Given the description of an element on the screen output the (x, y) to click on. 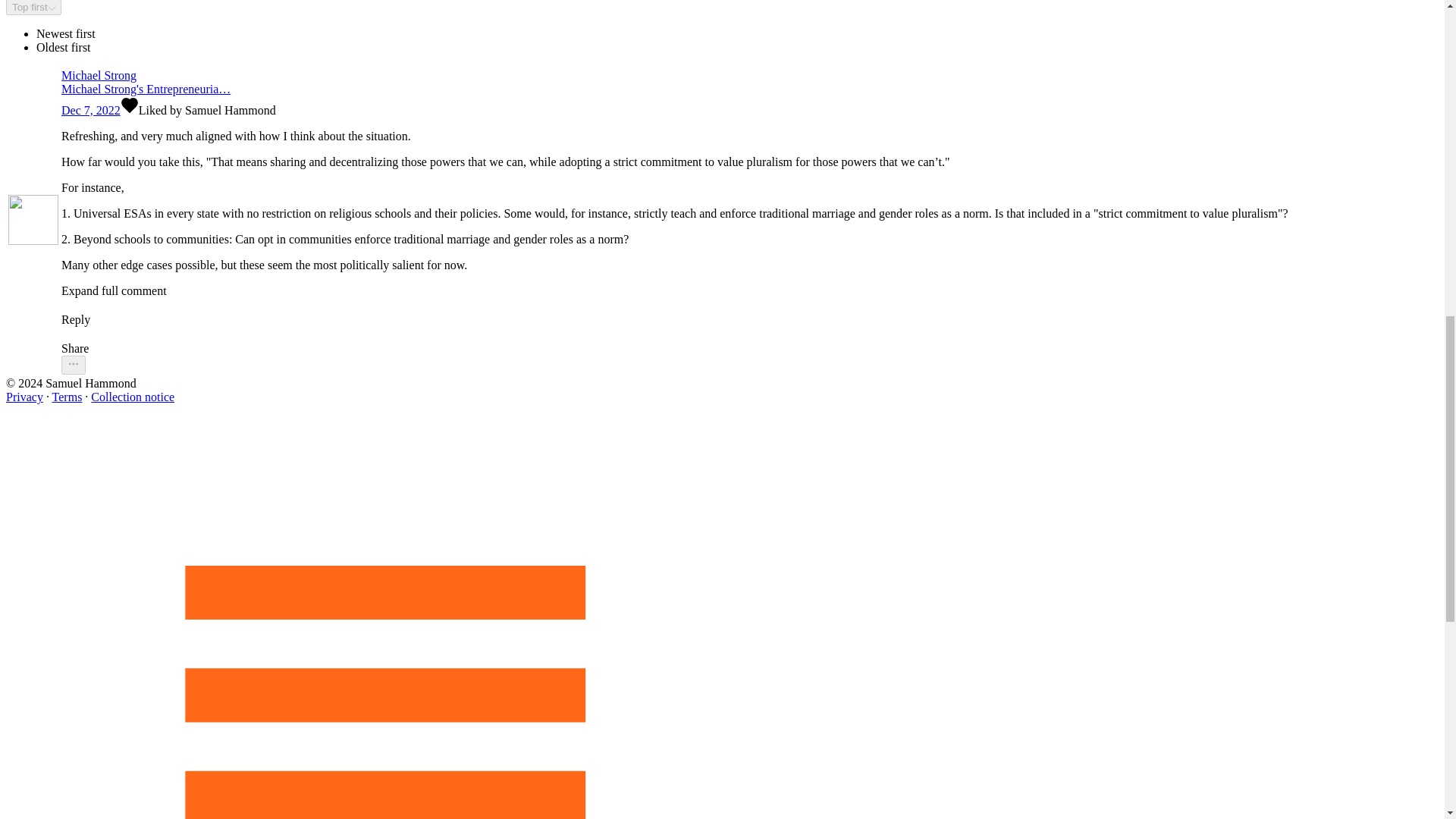
Share (674, 349)
Oldest first (63, 47)
Dec 7, 2022 (90, 110)
Michael Strong (674, 75)
Terms (67, 396)
Reply (674, 312)
Collection notice (132, 396)
Privacy (24, 396)
Newest first (66, 33)
Top first (33, 7)
